Given the description of an element on the screen output the (x, y) to click on. 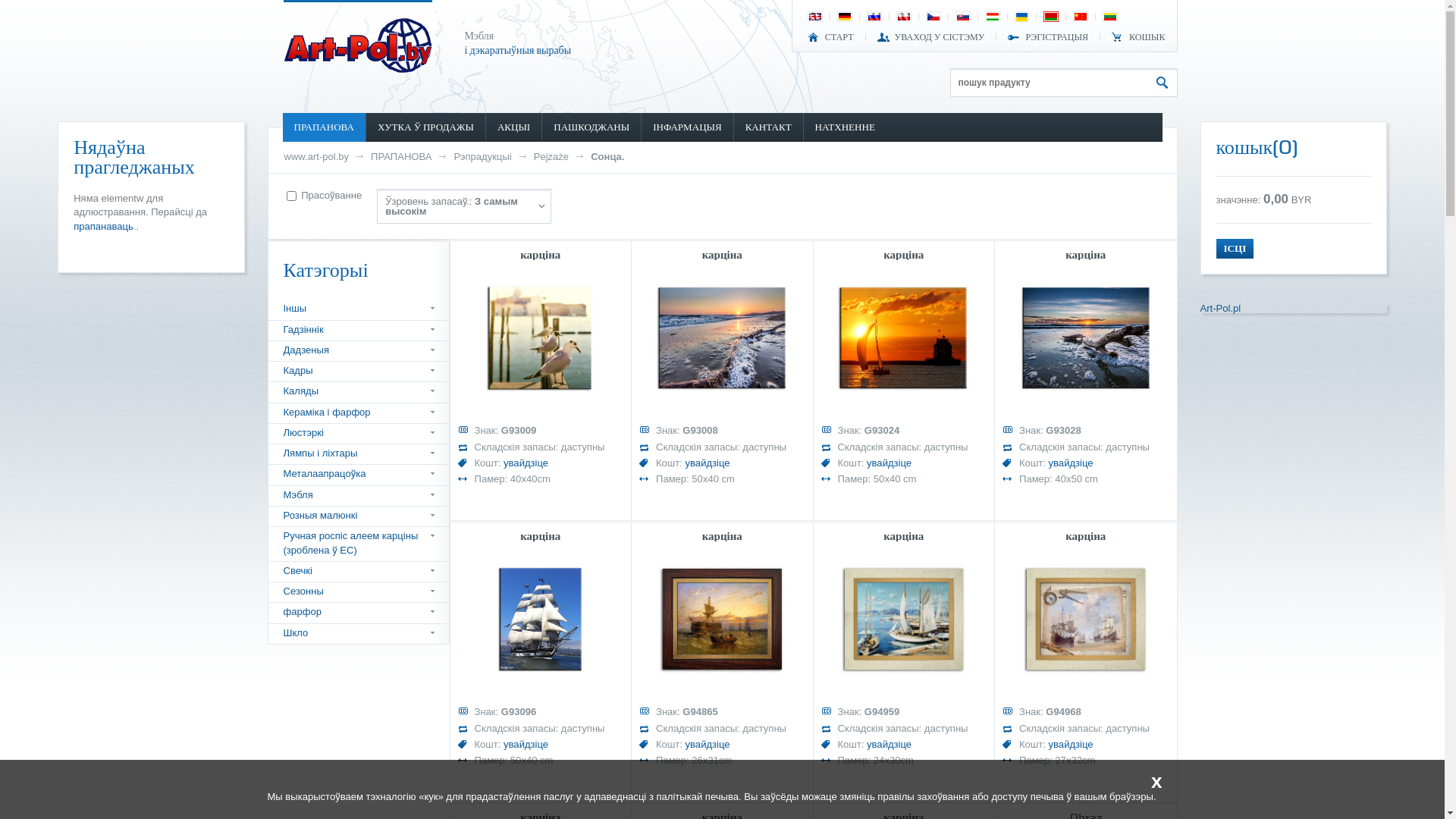
ru Element type: hover (874, 16)
lt Element type: hover (1110, 16)
sk Element type: hover (963, 16)
pl Element type: hover (903, 16)
en Element type: hover (815, 16)
www.art-pol.by Element type: text (315, 156)
by Element type: hover (1050, 16)
x Element type: text (1156, 780)
ua Element type: hover (1021, 16)
cn Element type: hover (1080, 16)
cz Element type: hover (933, 16)
Art-Pol.pl Element type: text (1219, 307)
de Element type: hover (844, 16)
hu Element type: hover (992, 16)
